Given the description of an element on the screen output the (x, y) to click on. 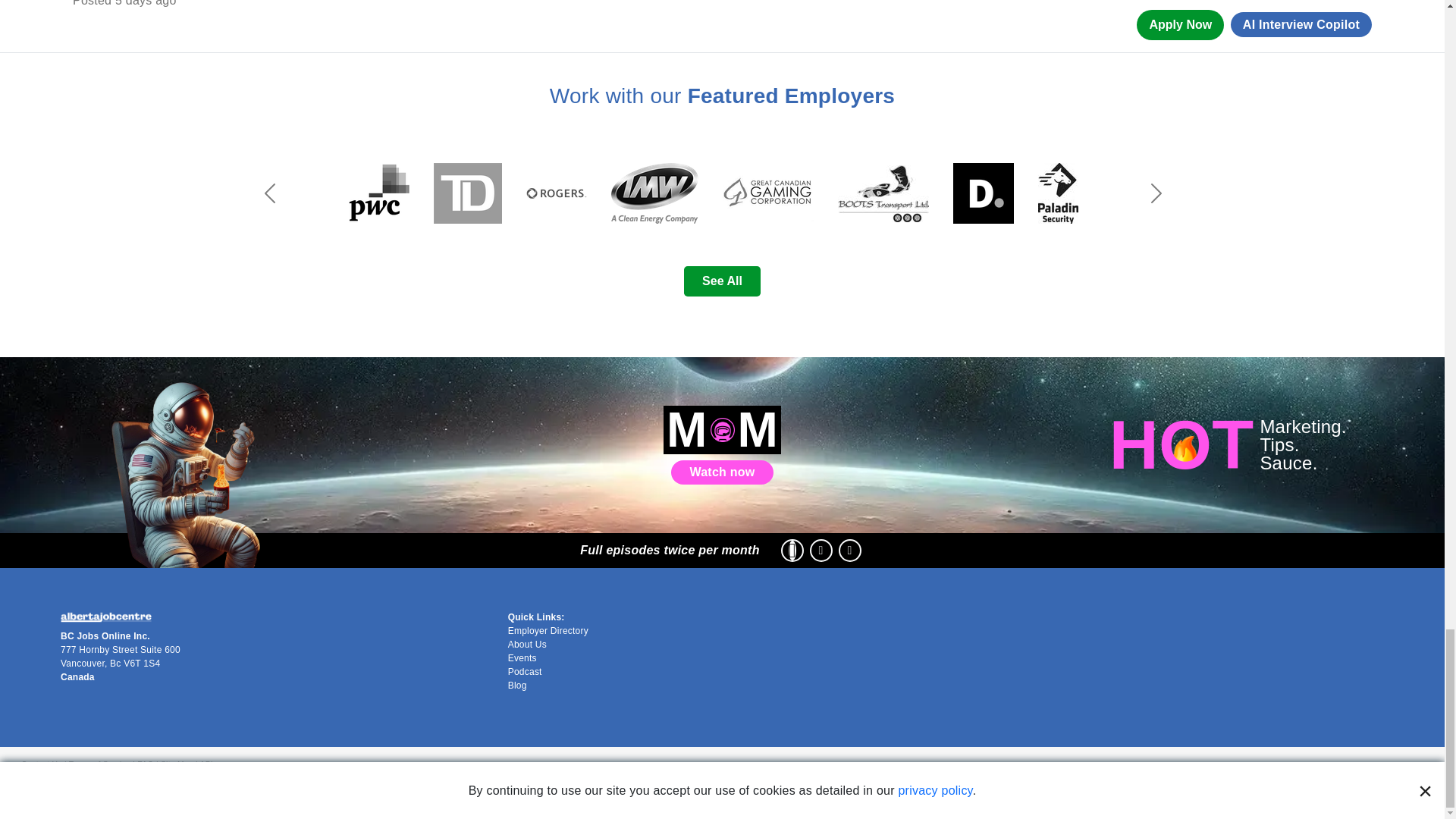
Get job alerts (722, 19)
